Given the description of an element on the screen output the (x, y) to click on. 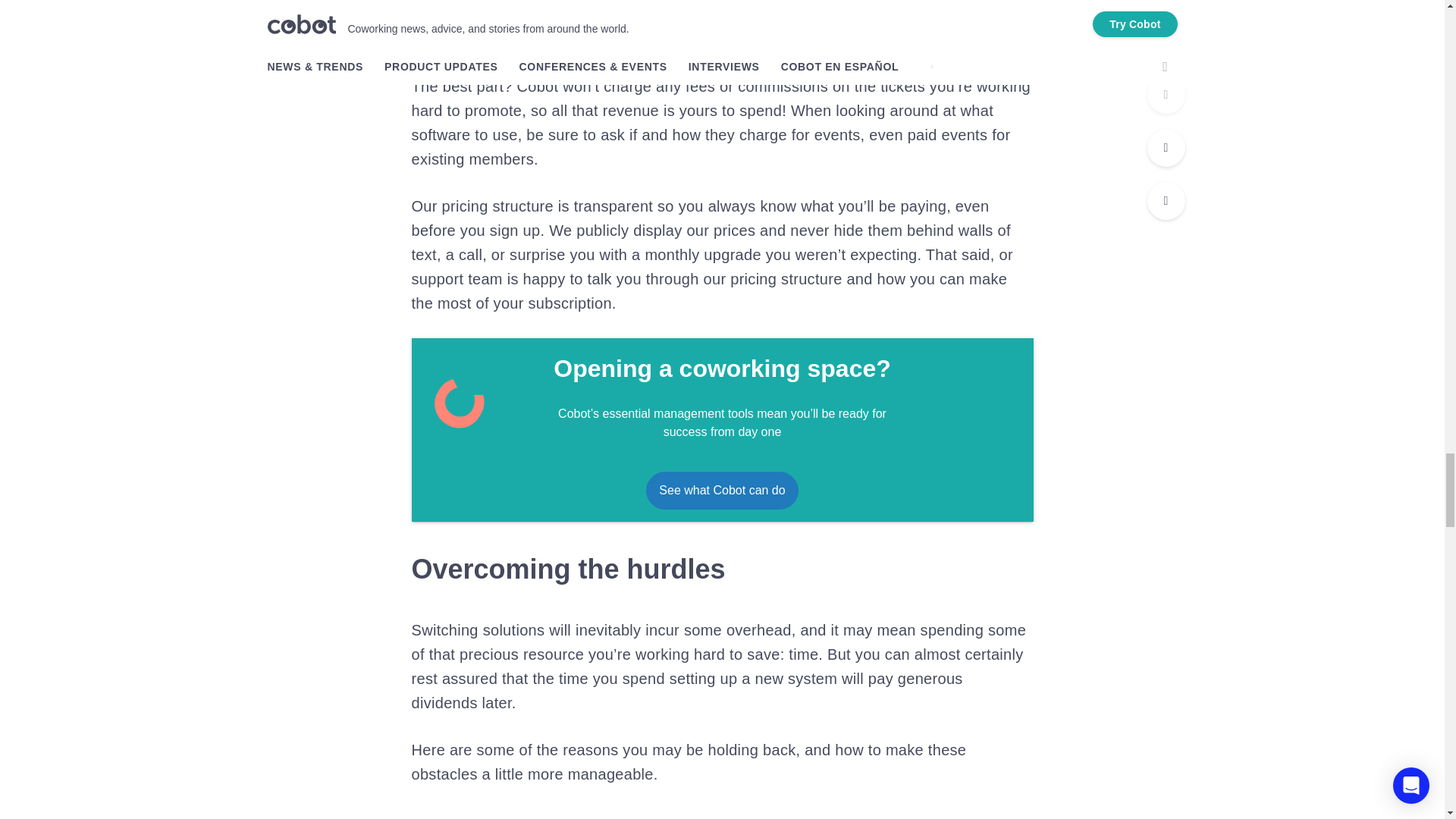
See what Cobot can do (721, 490)
